Given the description of an element on the screen output the (x, y) to click on. 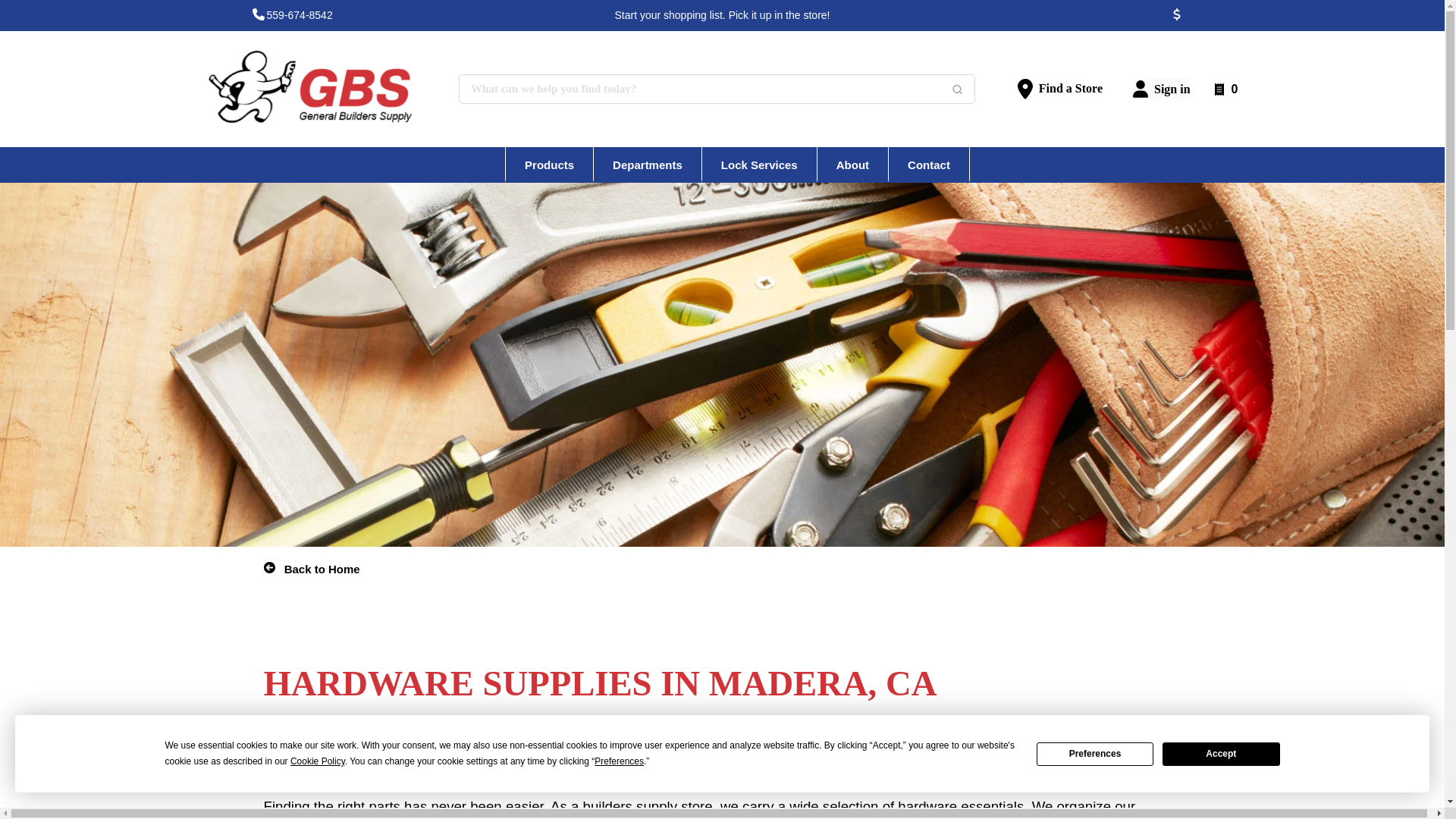
Products (548, 163)
559-674-8542 (299, 15)
Accept (1220, 753)
Lock Services (758, 163)
Departments (647, 163)
Find a Store (1059, 88)
Preferences (1094, 753)
Contact (928, 163)
0 (1225, 88)
Sign in (1161, 88)
